Given the description of an element on the screen output the (x, y) to click on. 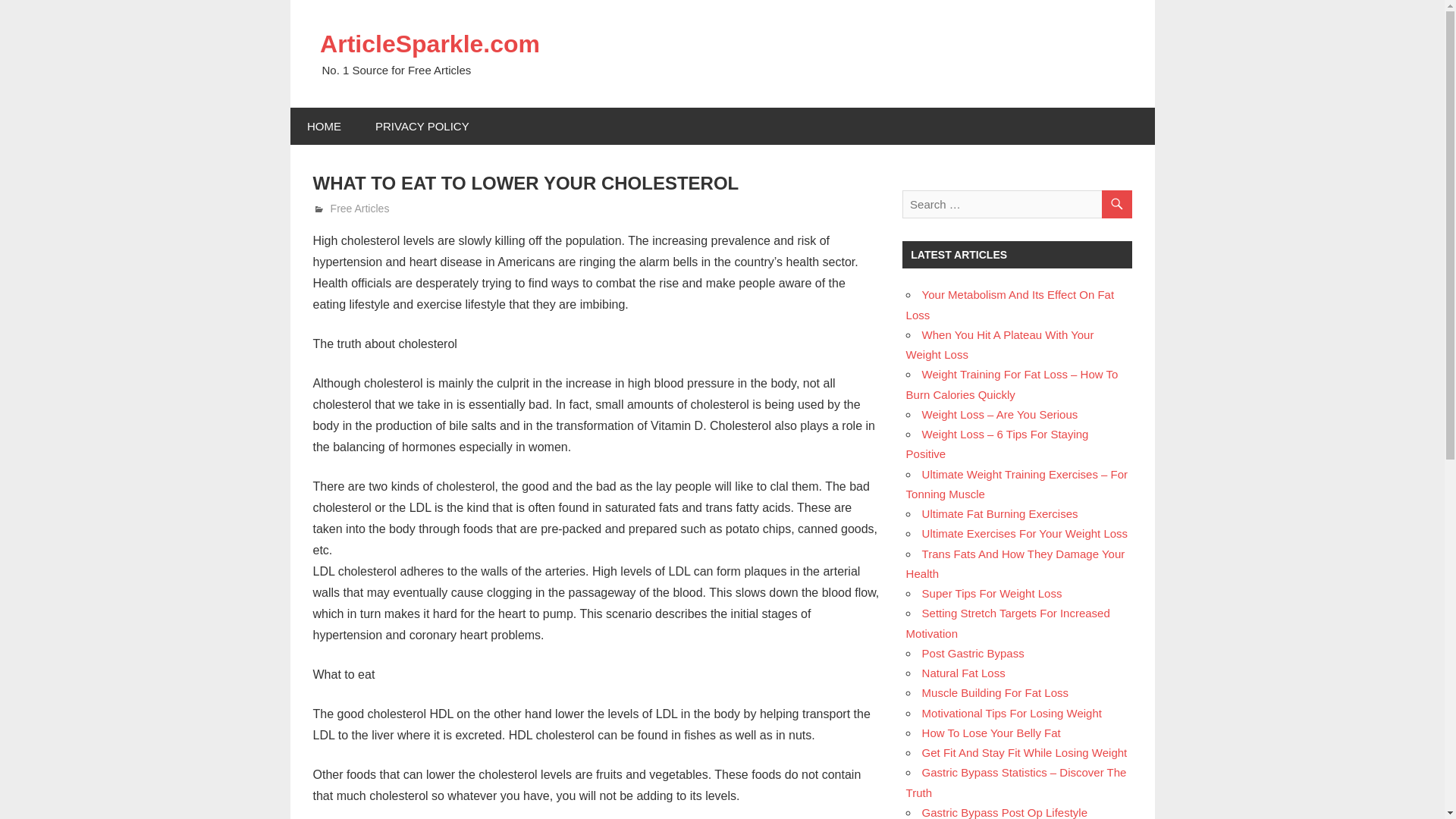
View all posts by gvtadmin (352, 208)
Trans Fats And How They Damage Your Health (1015, 563)
7:09 pm (375, 208)
September 27, 2010 (375, 208)
Muscle Building For Fat Loss (994, 692)
How To Lose Your Belly Fat (991, 732)
Get Fit And Stay Fit While Losing Weight (1023, 752)
HOME (323, 125)
PRIVACY POLICY (422, 125)
Motivational Tips For Losing Weight (1011, 712)
